Given the description of an element on the screen output the (x, y) to click on. 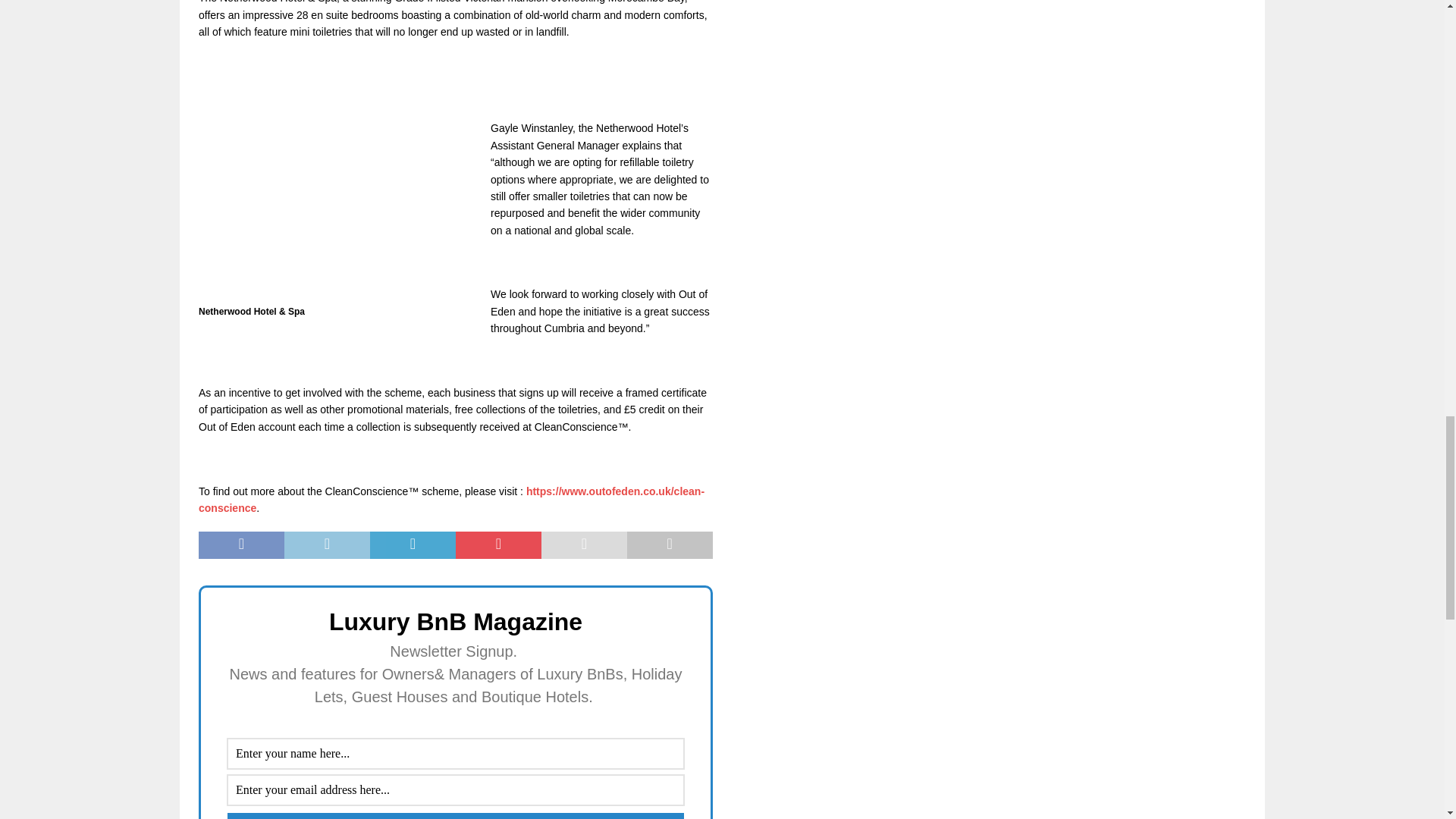
Subscribe Now (455, 816)
